Given the description of an element on the screen output the (x, y) to click on. 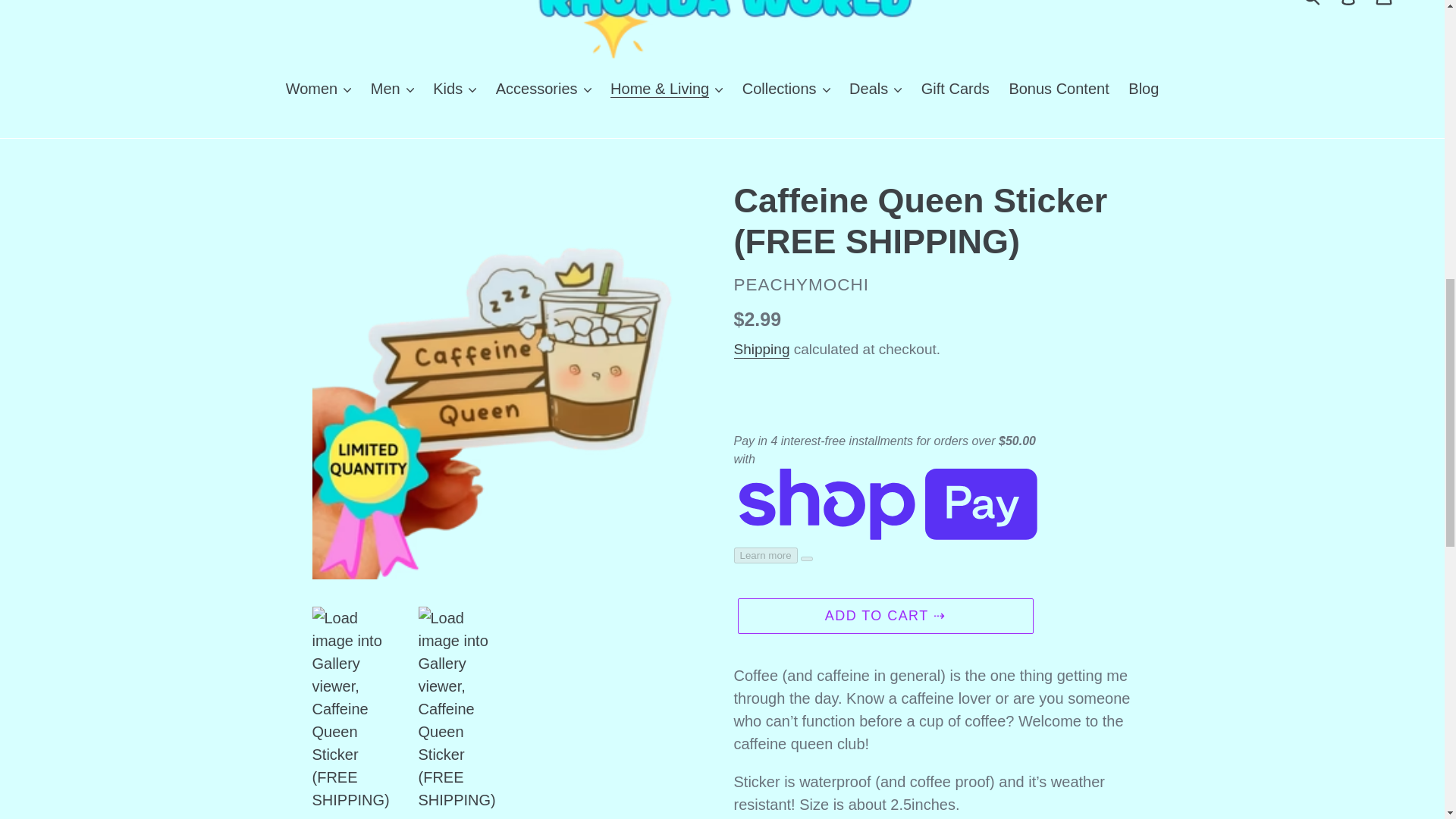
Log in (1349, 7)
Submit (1313, 6)
Cart (1385, 7)
